Given the description of an element on the screen output the (x, y) to click on. 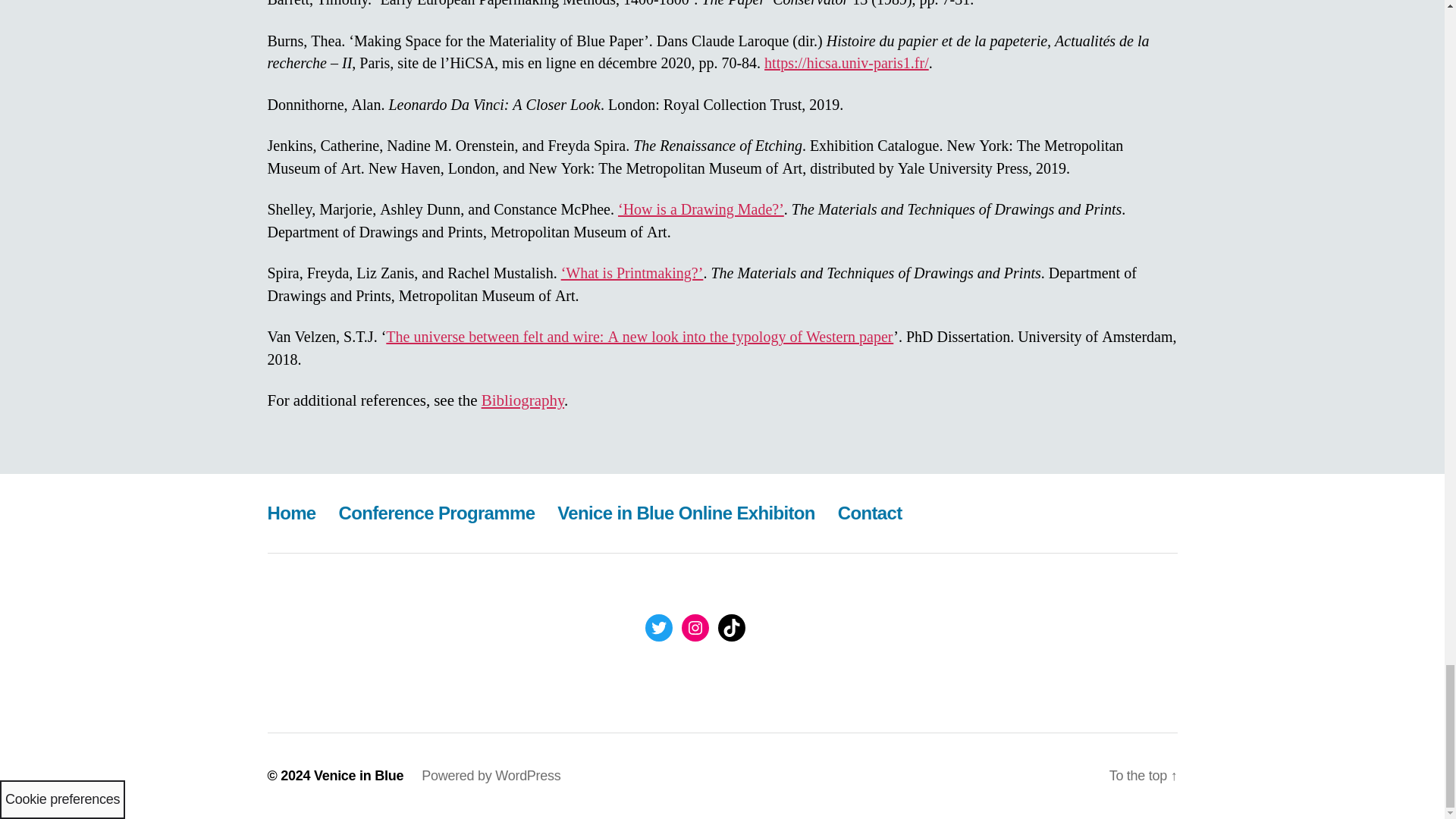
Bibliography (522, 400)
